Given the description of an element on the screen output the (x, y) to click on. 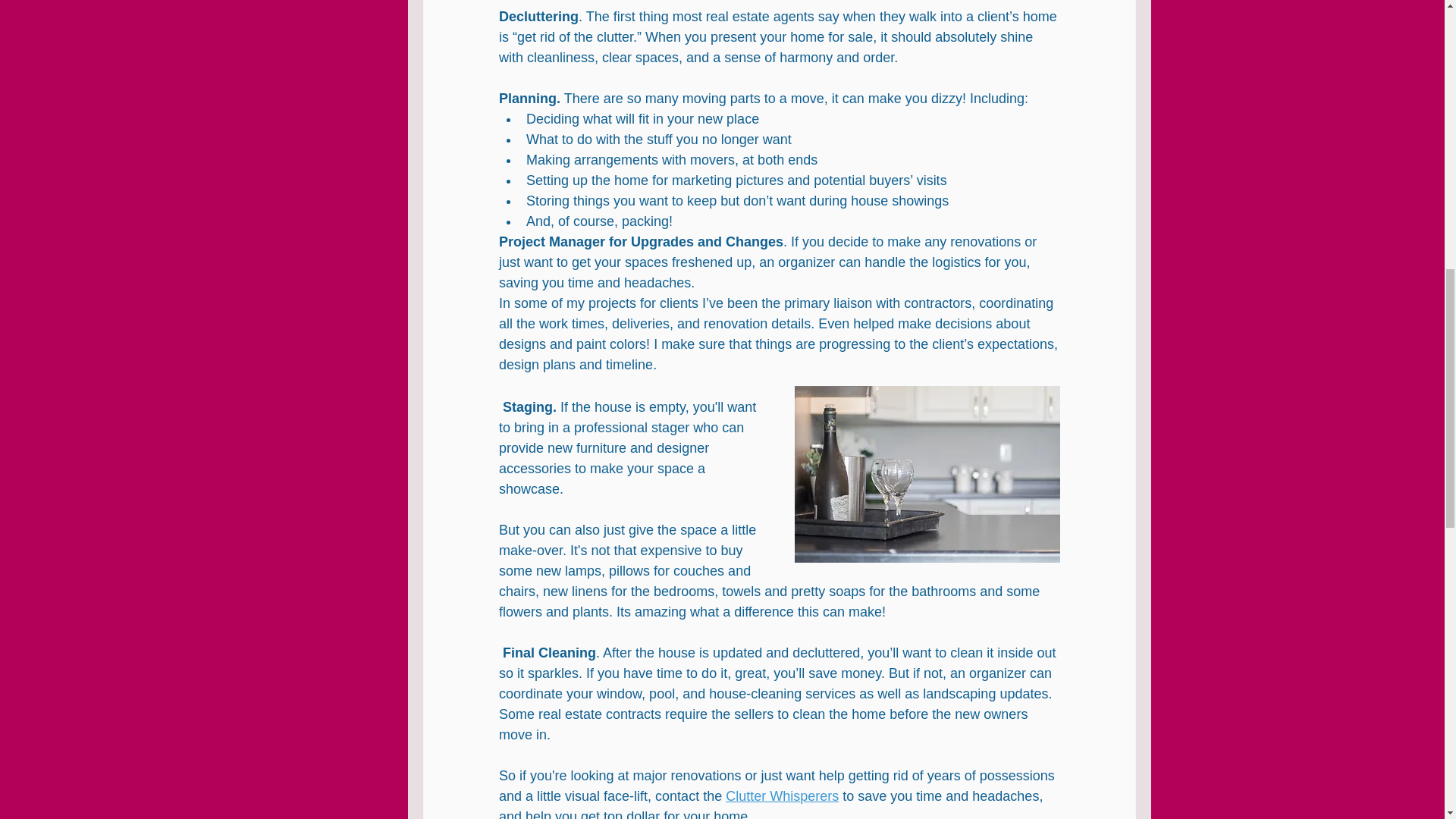
Clutter Whisperers (781, 795)
